Given the description of an element on the screen output the (x, y) to click on. 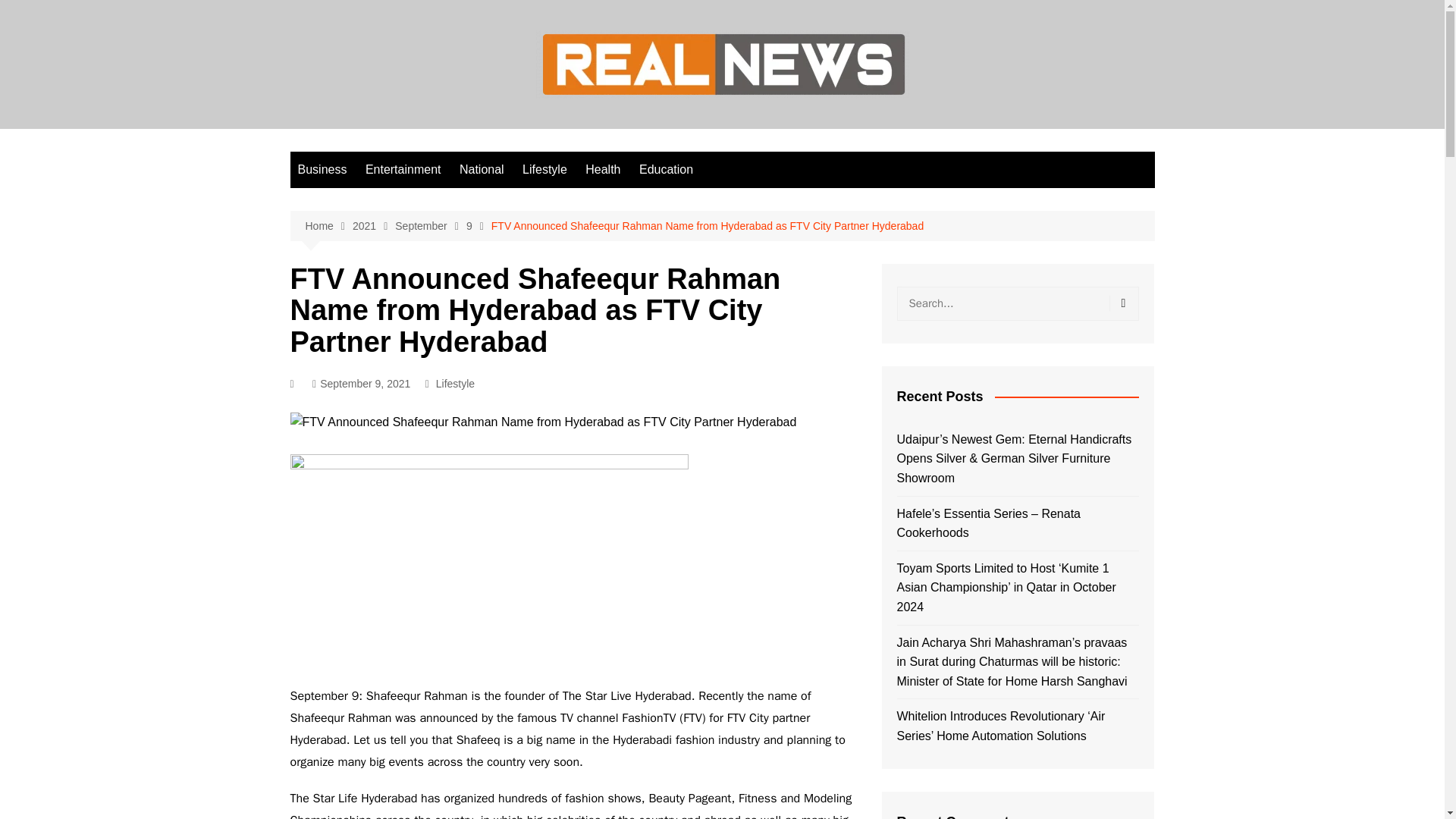
Home (328, 226)
National (481, 169)
Health (602, 169)
2021 (373, 226)
Lifestyle (454, 383)
September 9, 2021 (361, 384)
September (429, 226)
Business (321, 169)
Lifestyle (545, 169)
9 (478, 226)
Education (665, 169)
Entertainment (403, 169)
